Given the description of an element on the screen output the (x, y) to click on. 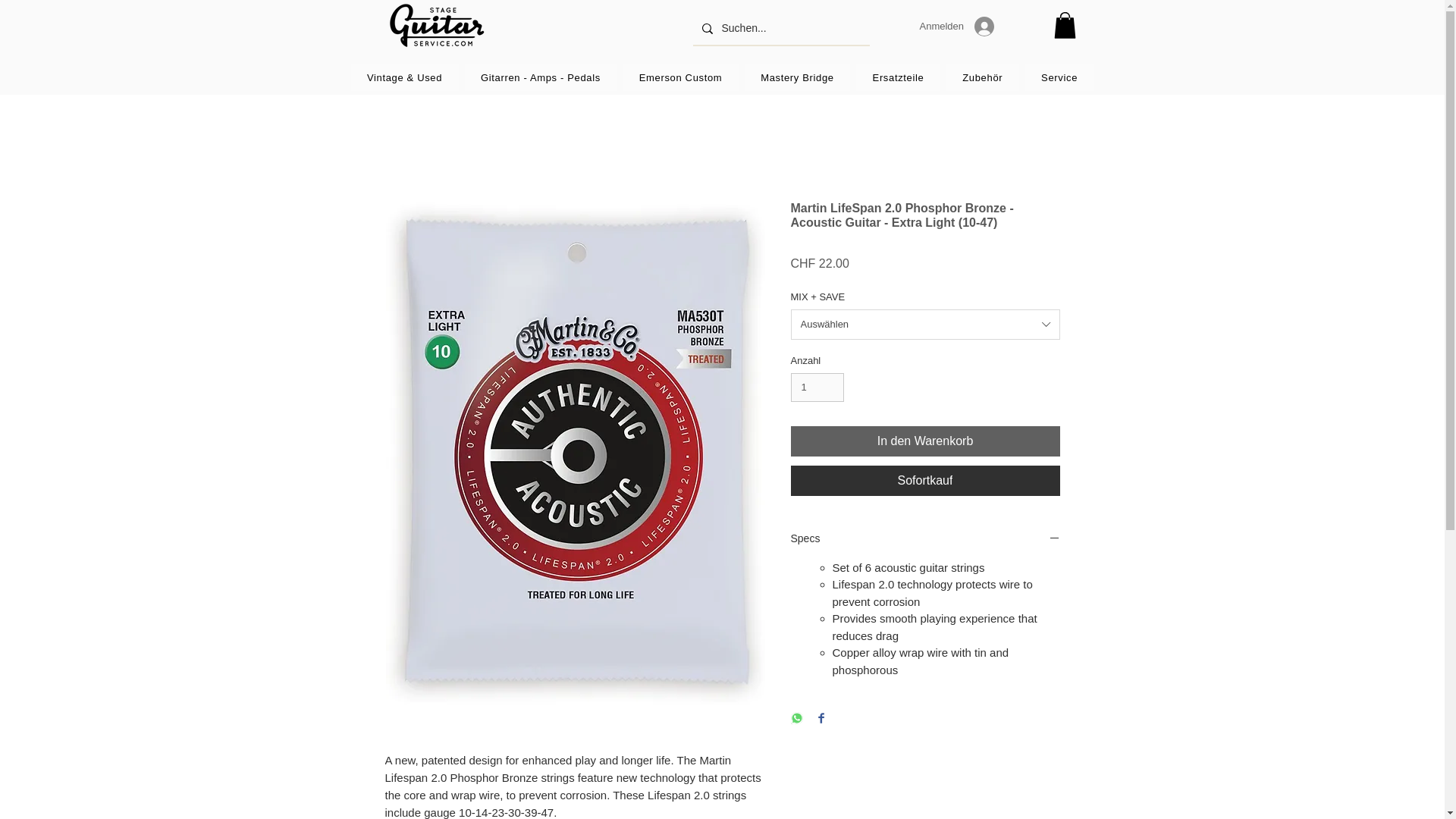
Mastery Bridge (797, 77)
Anmelden (956, 26)
1 (817, 387)
